Given the description of an element on the screen output the (x, y) to click on. 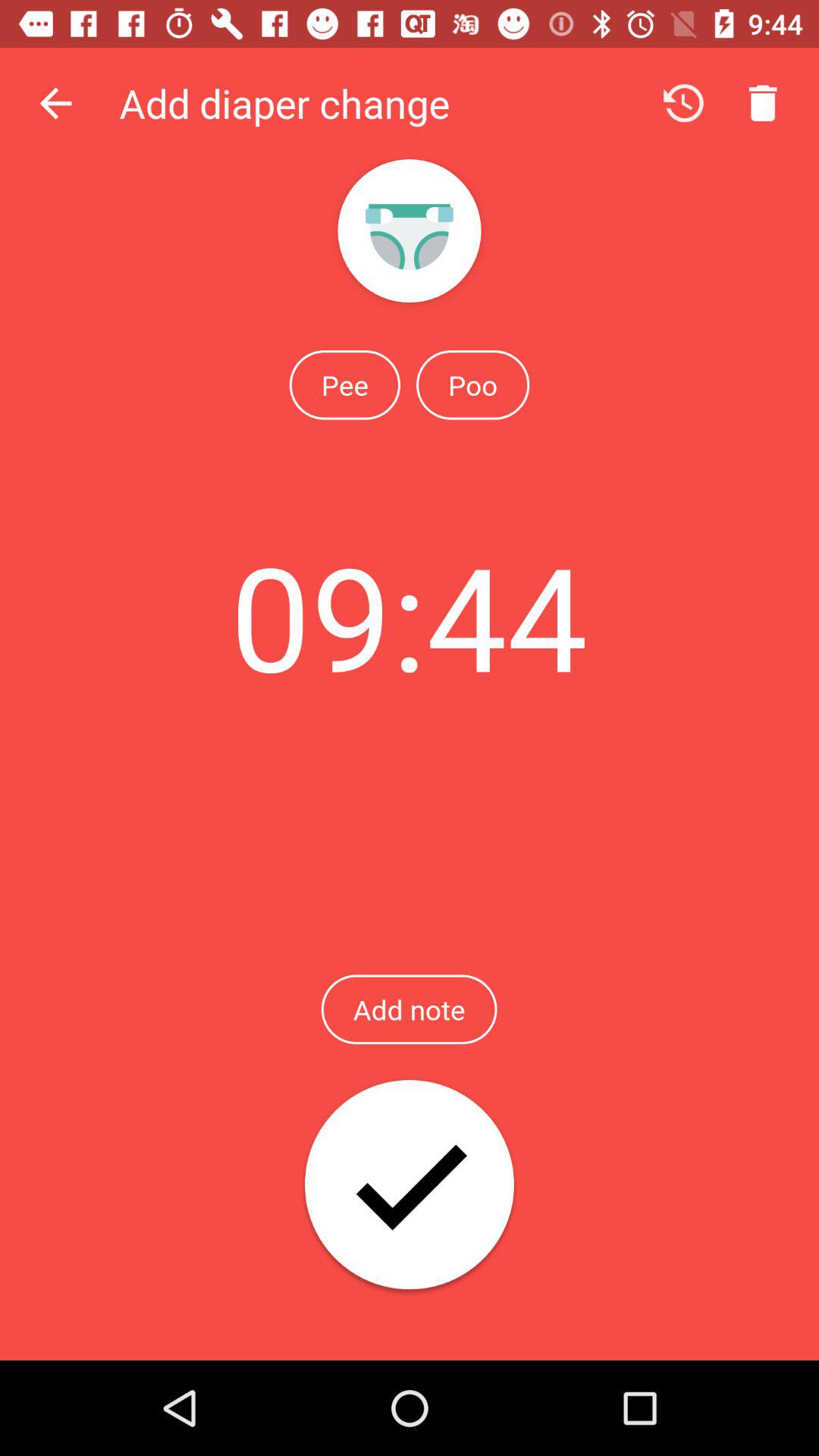
turn off item next to pee item (472, 384)
